Given the description of an element on the screen output the (x, y) to click on. 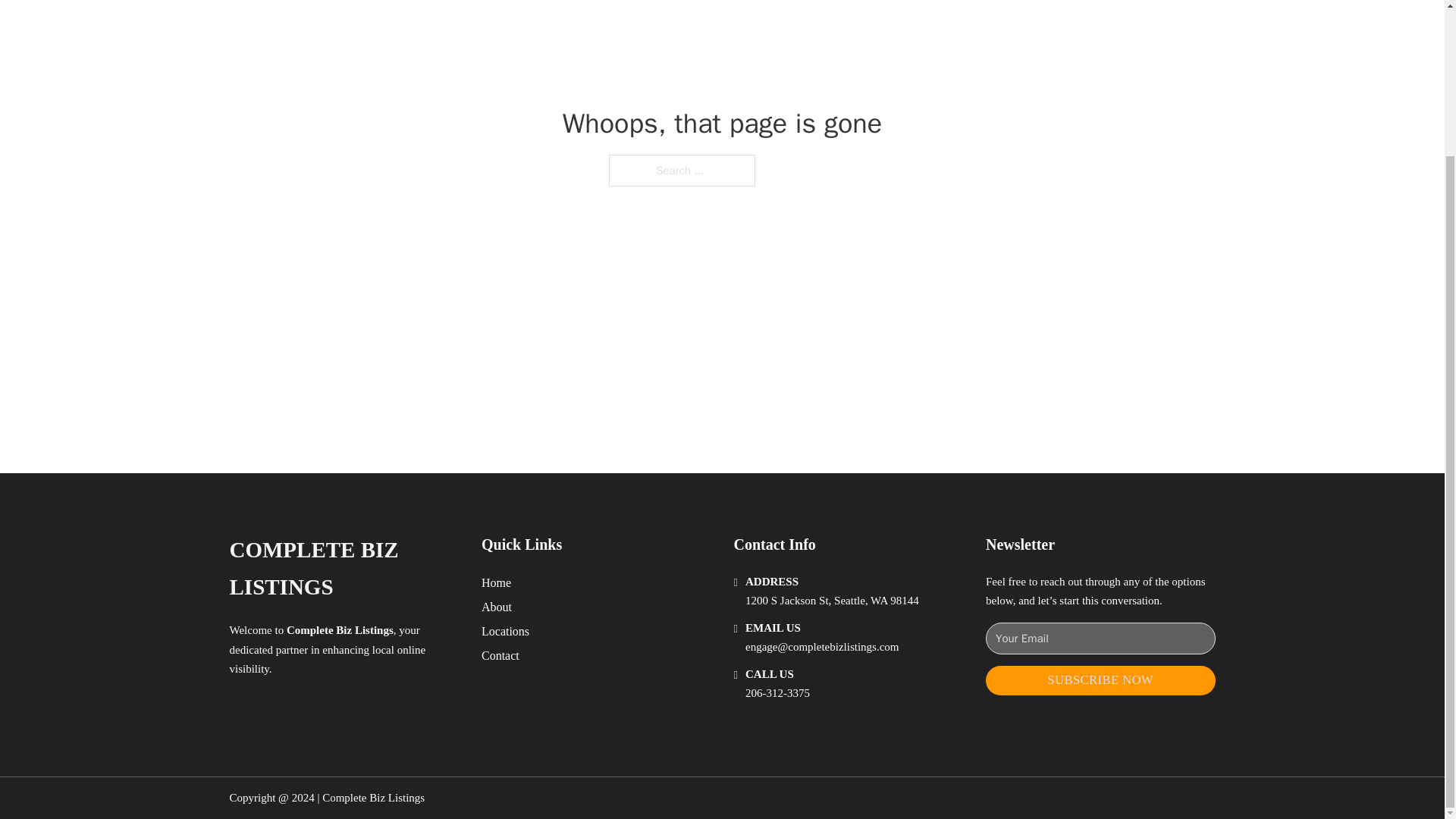
Contact (500, 655)
206-312-3375 (777, 693)
Home (496, 582)
COMPLETE BIZ LISTINGS (343, 568)
About (496, 607)
SUBSCRIBE NOW (1100, 680)
Locations (505, 630)
